Given the description of an element on the screen output the (x, y) to click on. 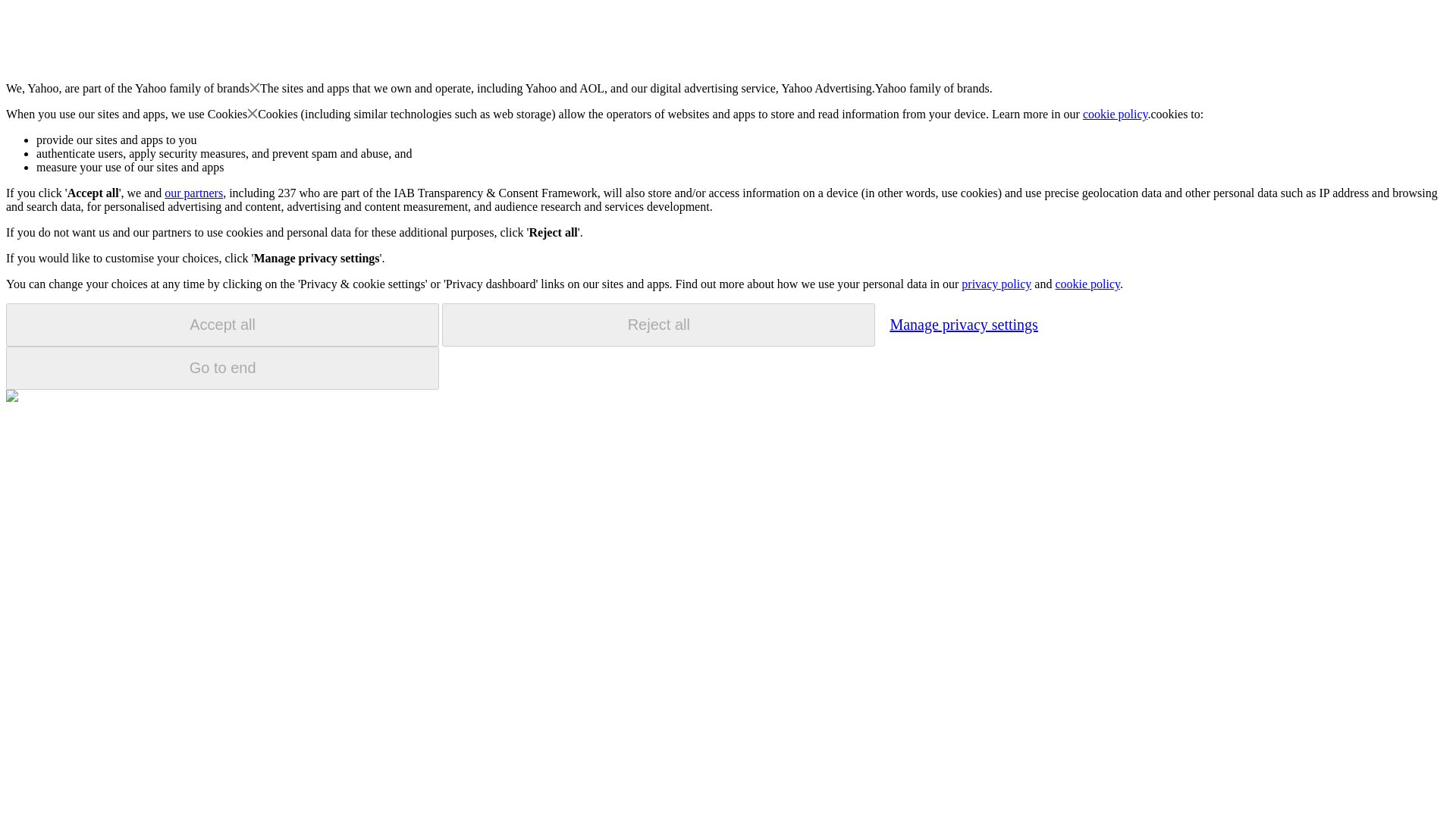
Reject all (658, 324)
Accept all (222, 324)
Manage privacy settings (963, 323)
our partners (193, 192)
cookie policy (1086, 283)
Go to end (222, 367)
privacy policy (995, 283)
cookie policy (1115, 113)
